Given the description of an element on the screen output the (x, y) to click on. 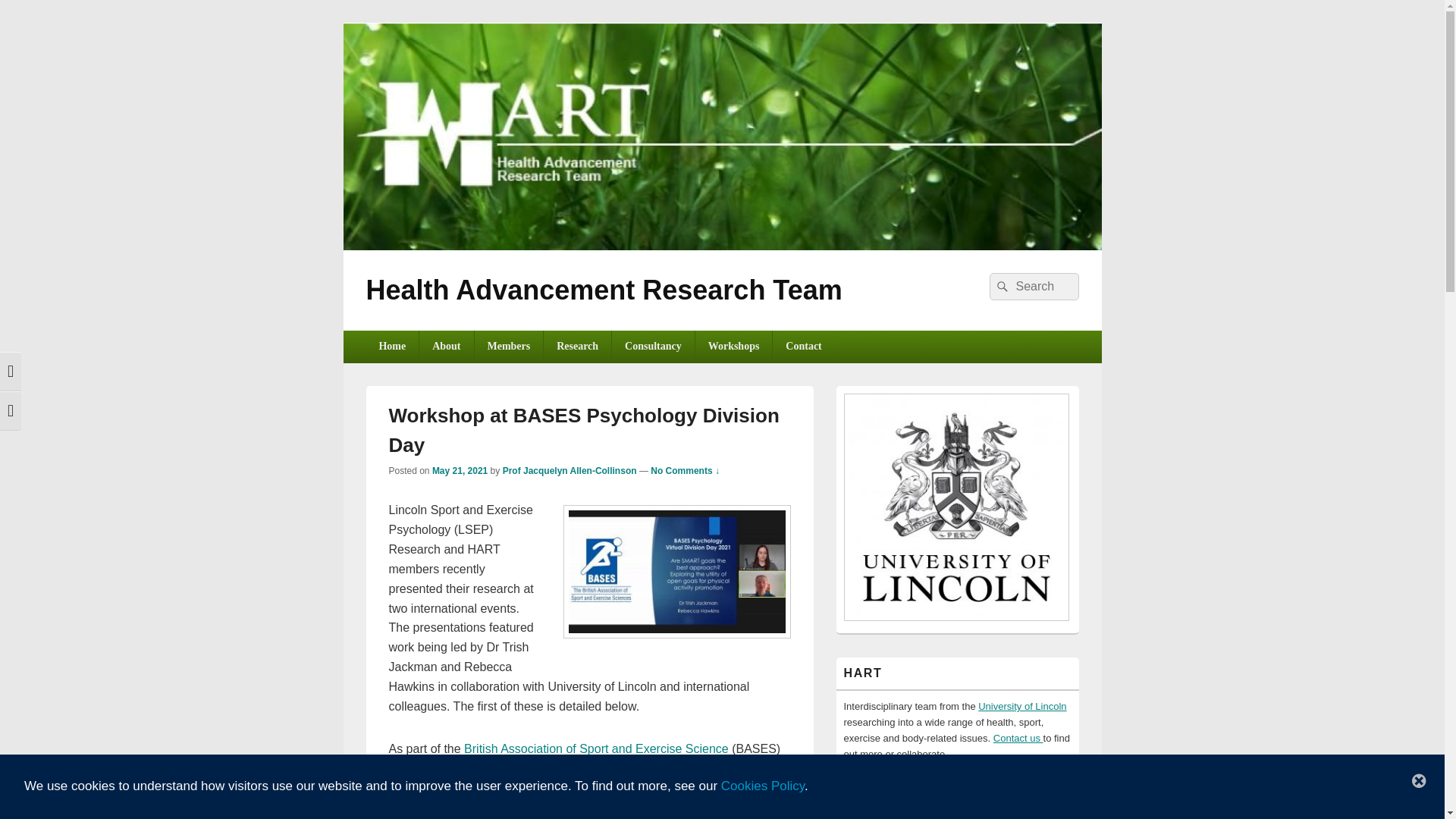
May 21, 2021 (459, 470)
Health Advancement Research Team (721, 245)
Workshops (734, 346)
Members (508, 346)
Health Advancement Research Team (603, 289)
10:17 am (459, 470)
Prof Jacquelyn Allen-Collinson (569, 470)
Search for: (1033, 286)
Home (392, 346)
